Given the description of an element on the screen output the (x, y) to click on. 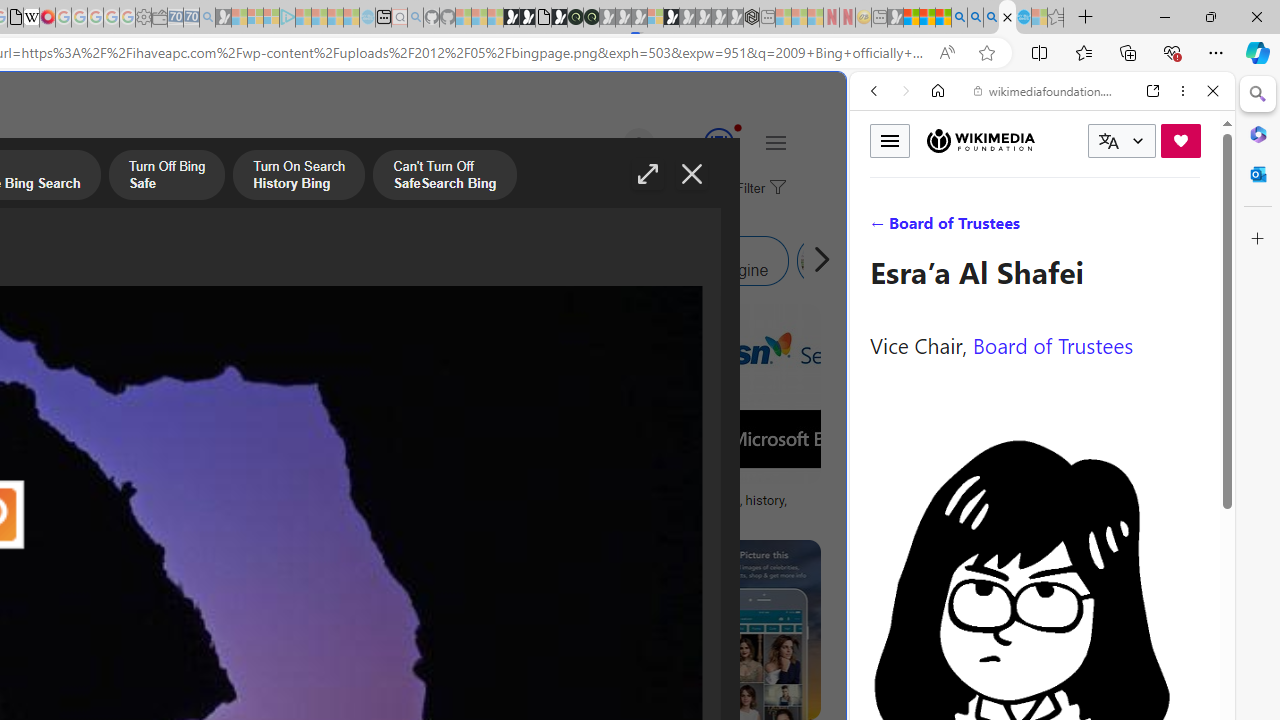
Board of Trustees (1053, 344)
Close image (692, 173)
Bing Logo, symbol, meaning, history, PNG, brandSave (694, 417)
2009 Bing officially replaced Live Search on June 3 - Search (975, 17)
Frequently visited (418, 265)
Home | Sky Blue Bikes - Sky Blue Bikes - Sleeping (367, 17)
Owner of Bing Search Engine (597, 260)
Bing Image Search Similar Images (416, 260)
Play Cave FRVR in your browser | Games from Microsoft Start (343, 426)
